Given the description of an element on the screen output the (x, y) to click on. 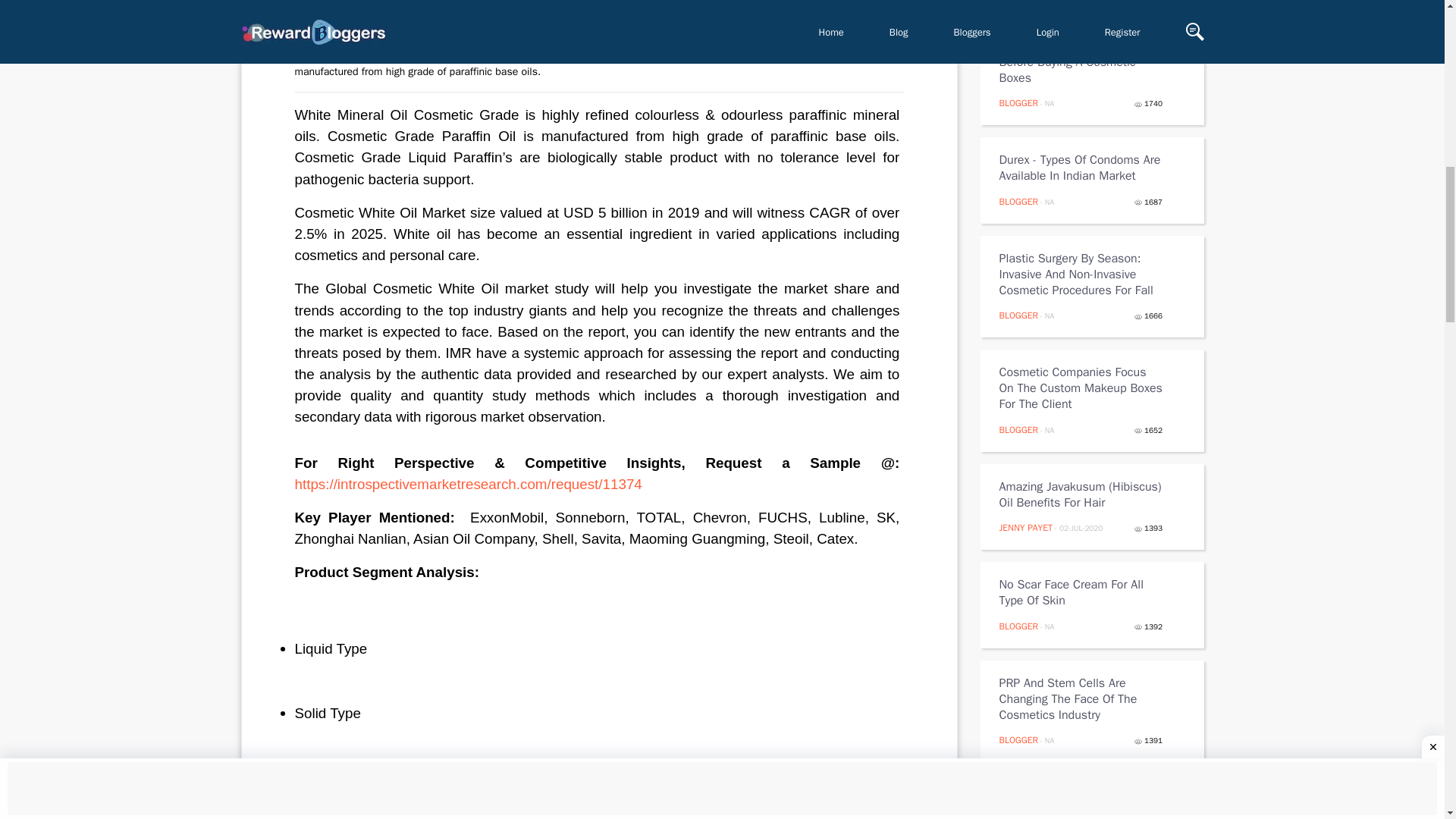
Different Types Of Human Hair For Hair Extensions (1080, 804)
Things You Must Consider Before Buying A Cosmetic Boxes (1080, 61)
JENNY PAYET (1025, 527)
BLOGGER (1018, 625)
BLOGGER (1018, 315)
No Scar Face Cream For All Type Of Skin (1080, 593)
